Given the description of an element on the screen output the (x, y) to click on. 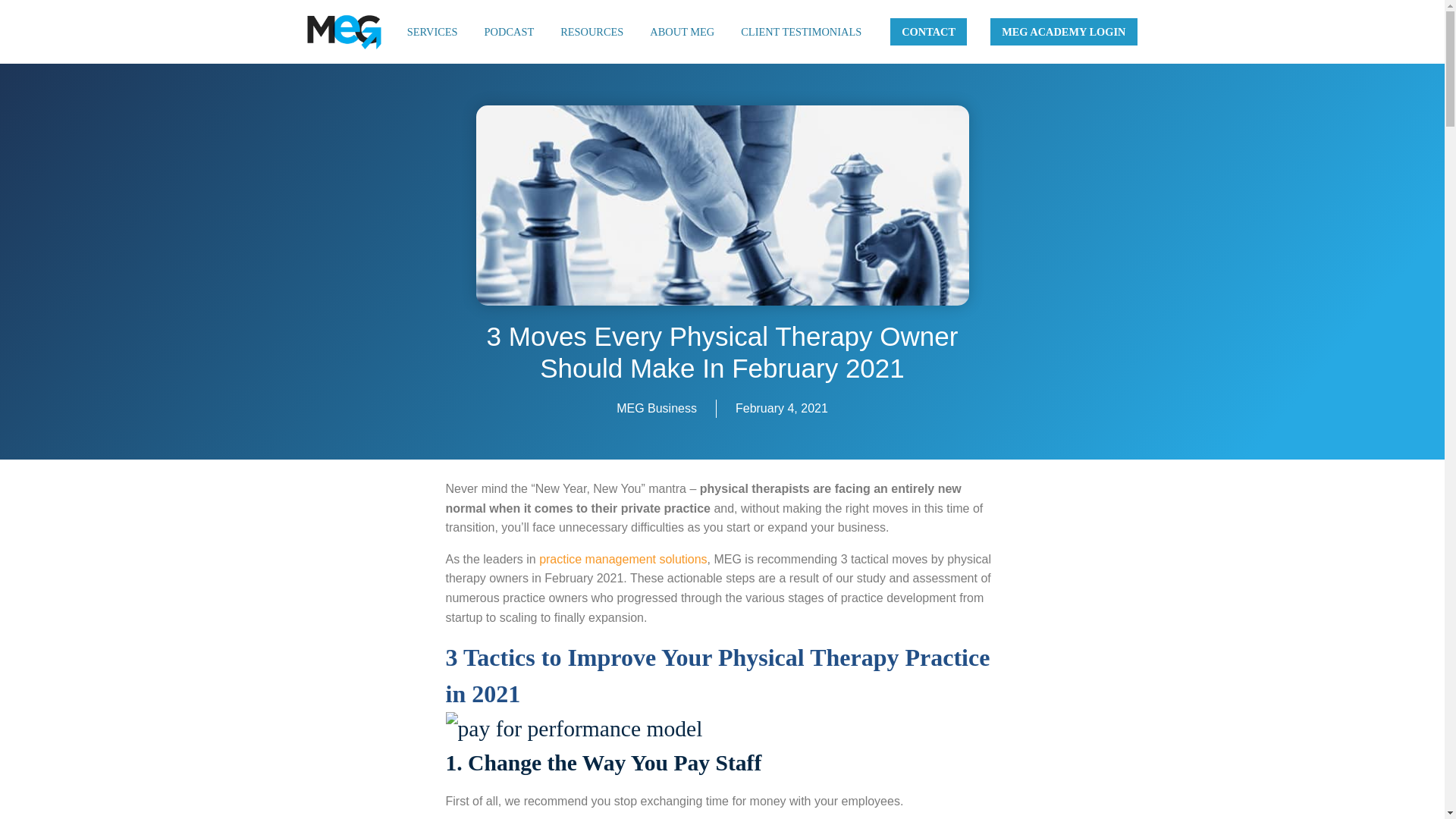
CONTACT (928, 31)
ABOUT MEG (681, 31)
CLIENT TESTIMONIALS (801, 31)
RESOURCES (591, 31)
MEG ACADEMY LOGIN (1063, 31)
